Given the description of an element on the screen output the (x, y) to click on. 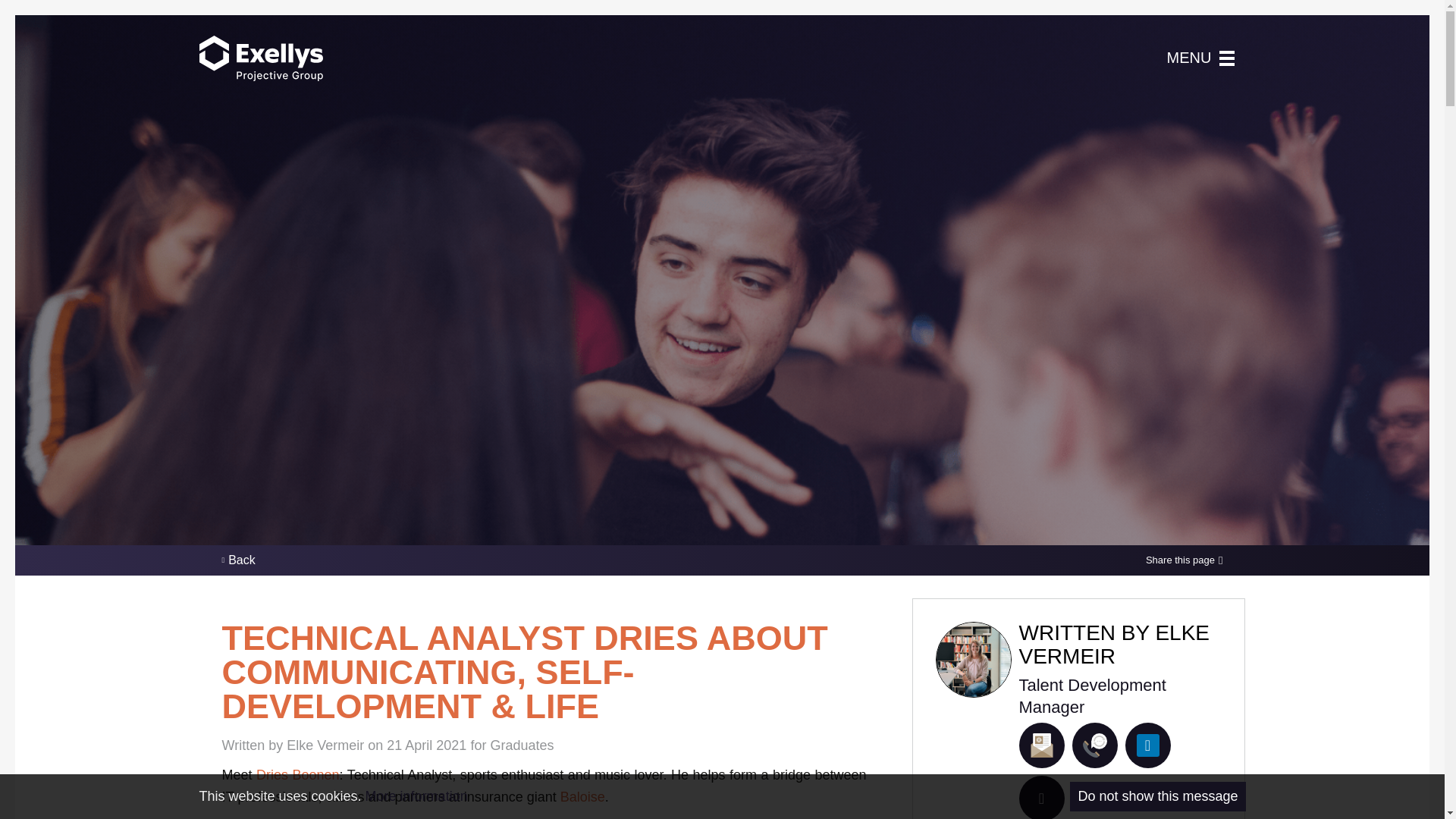
Do not show this message (1157, 796)
Dries Boonen (297, 774)
MENU (1201, 57)
Back (237, 559)
More information (416, 795)
Baloise (582, 796)
